Given the description of an element on the screen output the (x, y) to click on. 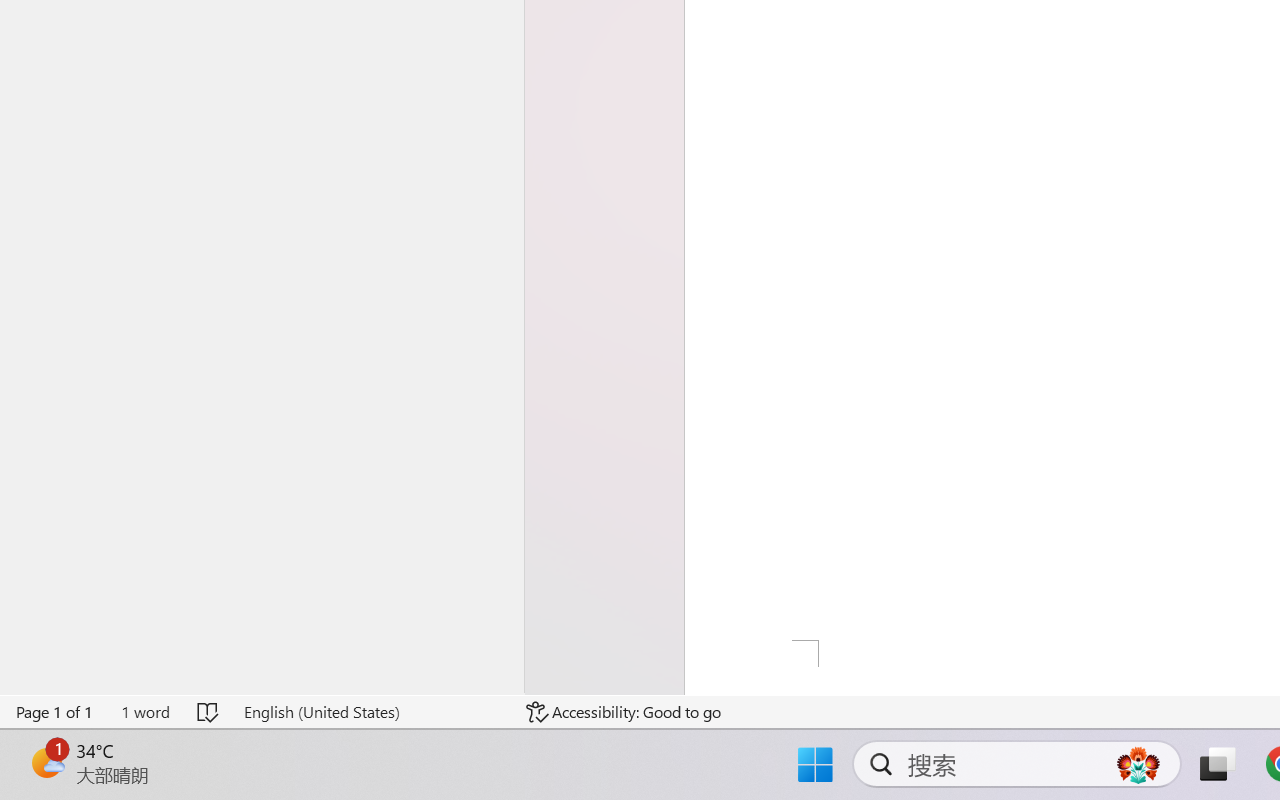
Page Number Page 1 of 1 (55, 712)
Accessibility Checker Accessibility: Good to go (623, 712)
Language English (United States) (370, 712)
Spelling and Grammar Check No Errors (208, 712)
Word Count 1 word (145, 712)
AutomationID: BadgeAnchorLargeTicker (46, 762)
AutomationID: DynamicSearchBoxGleamImage (1138, 764)
